Given the description of an element on the screen output the (x, y) to click on. 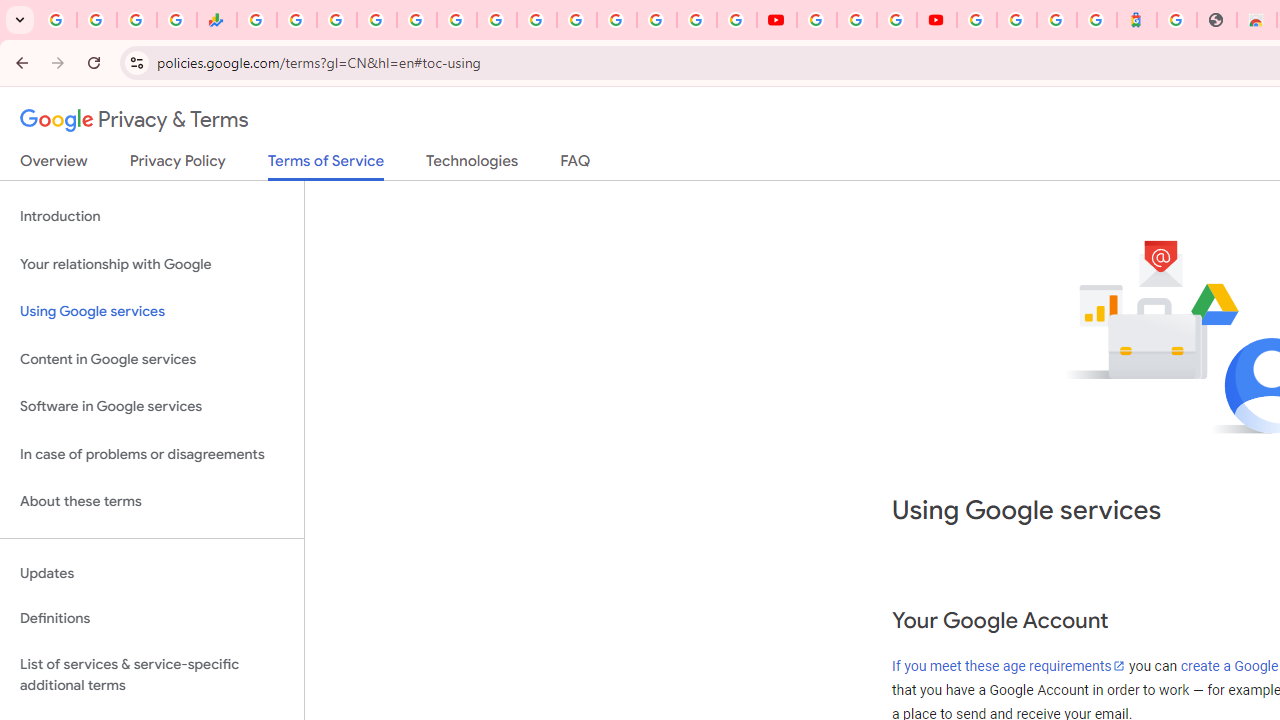
Software in Google services (152, 407)
Sign in - Google Accounts (576, 20)
Sign in - Google Accounts (1016, 20)
Google Account Help (856, 20)
About these terms (152, 502)
List of services & service-specific additional terms (152, 674)
